Given the description of an element on the screen output the (x, y) to click on. 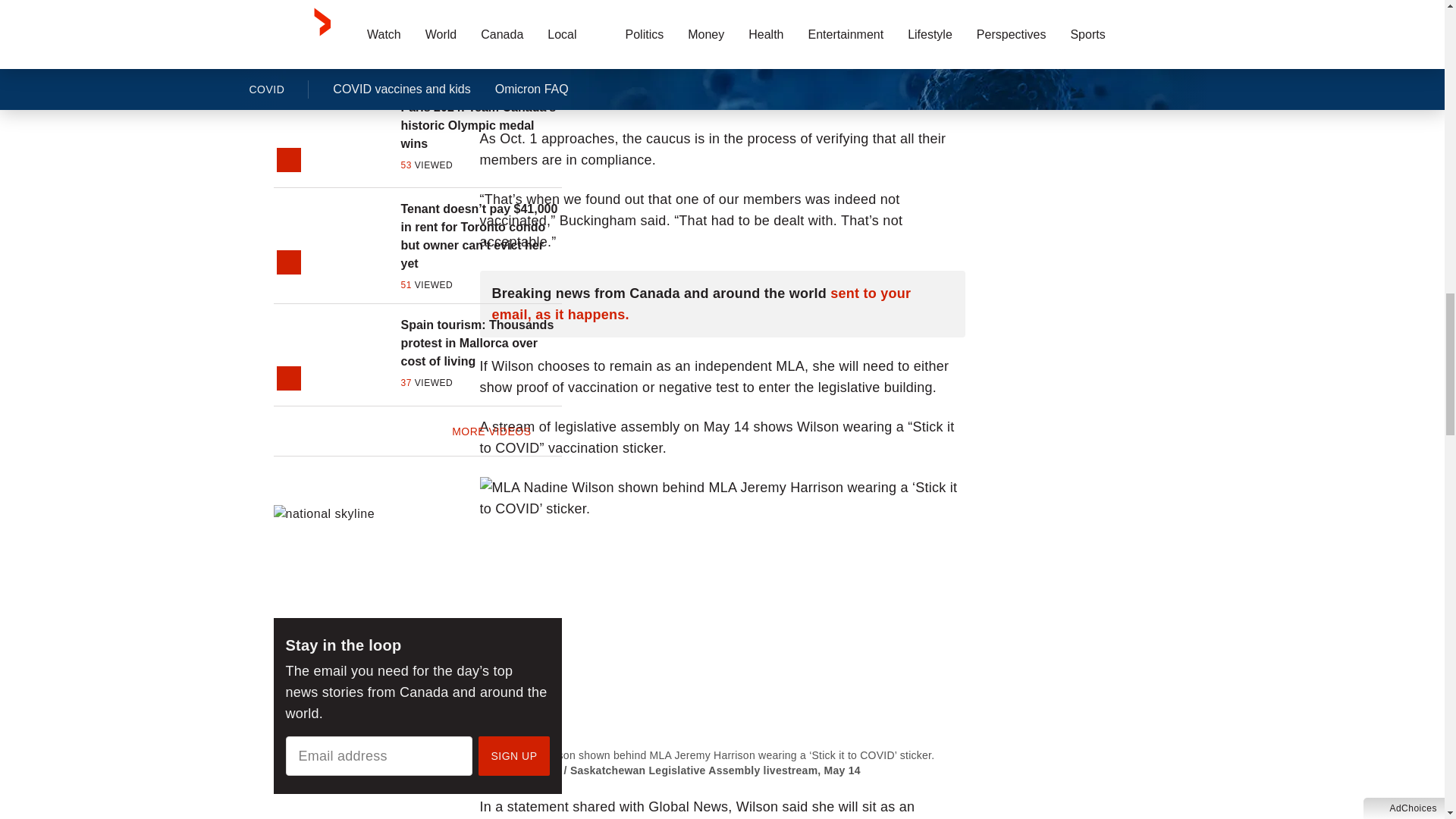
View image in full screen (721, 605)
